Given the description of an element on the screen output the (x, y) to click on. 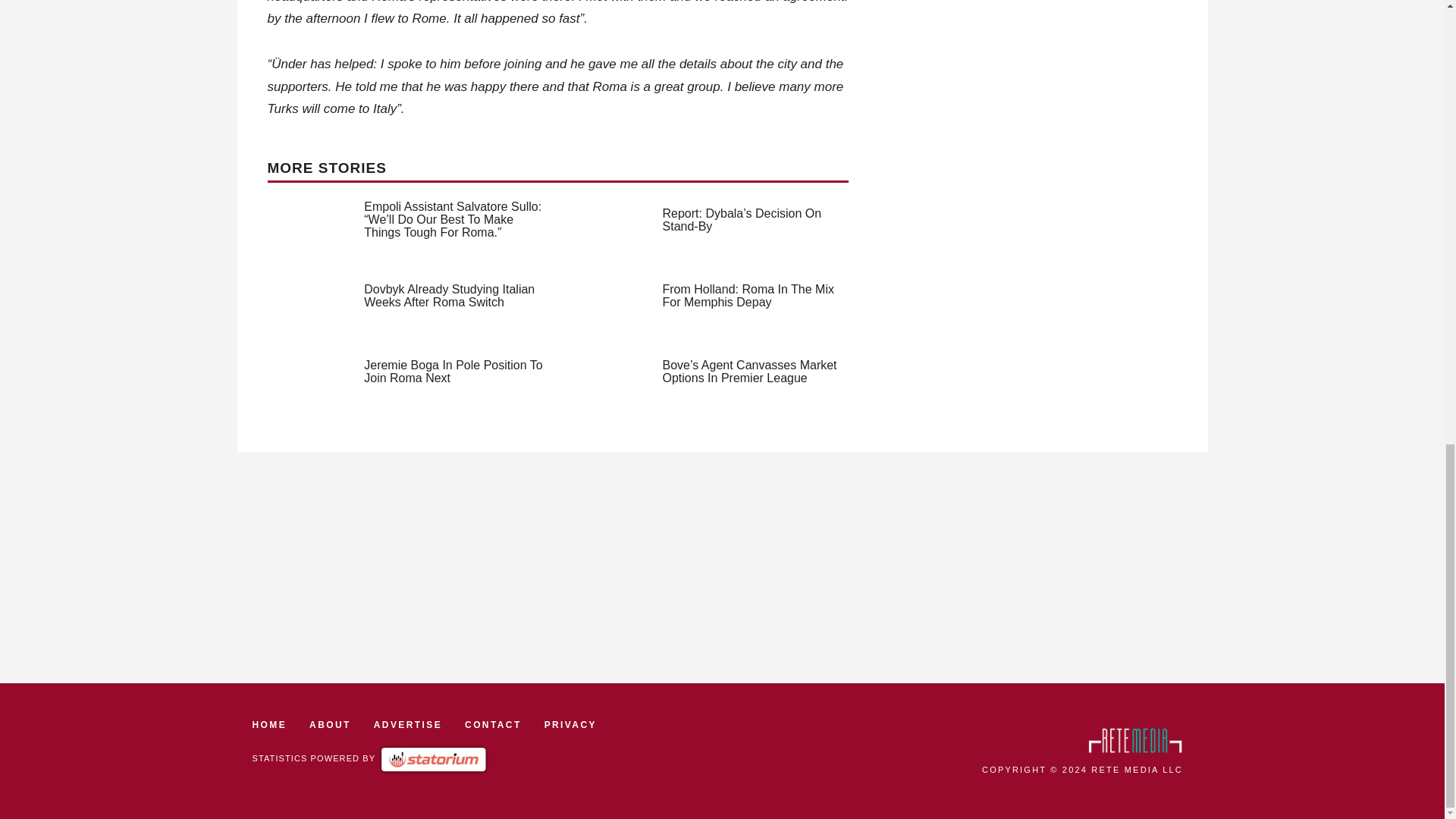
ABOUT (329, 724)
PRIVACY (570, 724)
From Holland: Roma In The Mix For Memphis Depay (748, 295)
ADVERTISE (408, 724)
Dovbyk Already Studying Italian Weeks After Roma Switch (449, 295)
CONTACT (492, 724)
HOME (268, 724)
Jeremie Boga In Pole Position To Join Roma Next (452, 371)
